Given the description of an element on the screen output the (x, y) to click on. 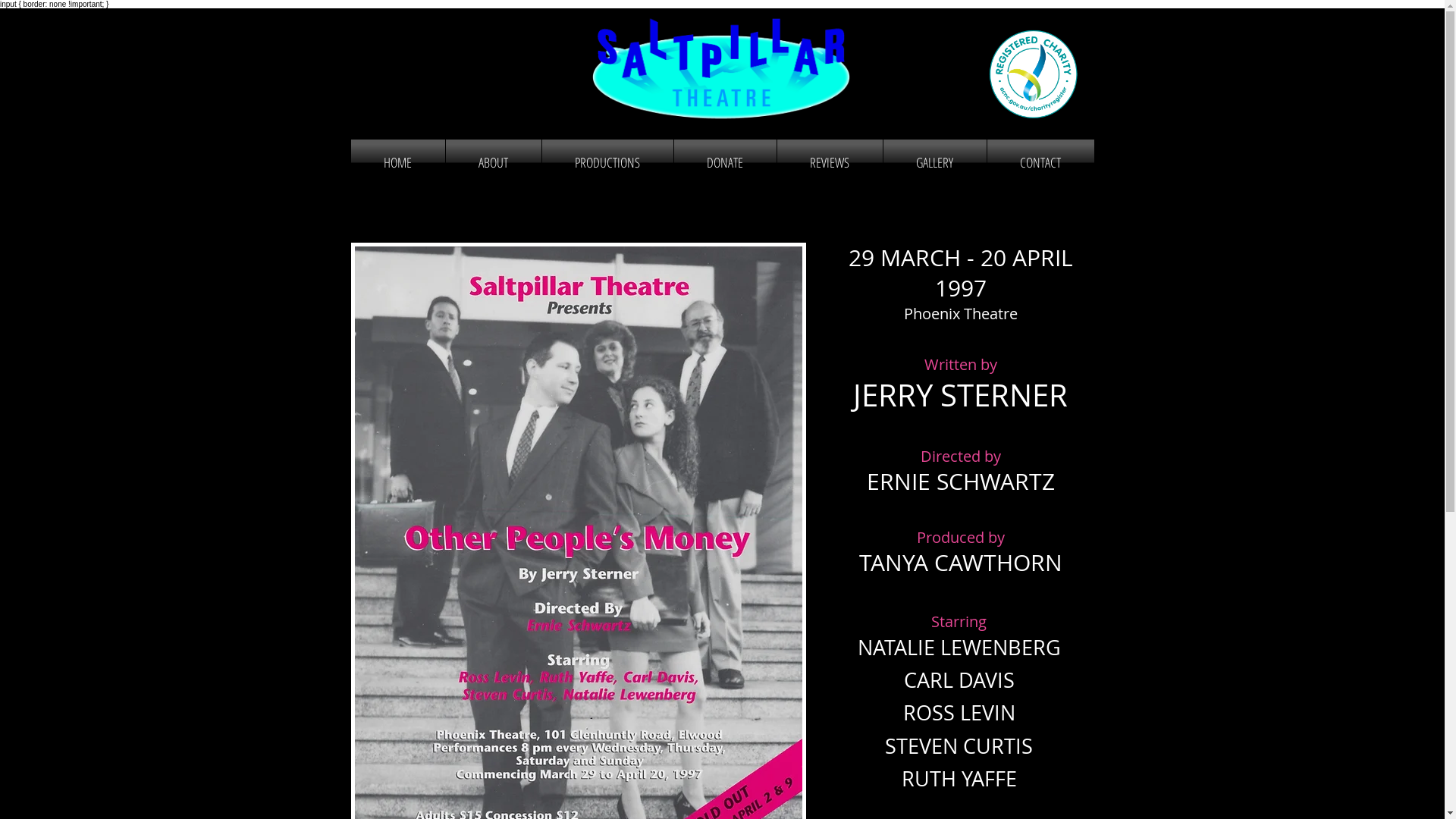
HOME Element type: text (397, 162)
DONATE Element type: text (724, 162)
Saltpillar Theatre Logo.gif Element type: hover (720, 68)
CONTACT Element type: text (1040, 162)
